Given the description of an element on the screen output the (x, y) to click on. 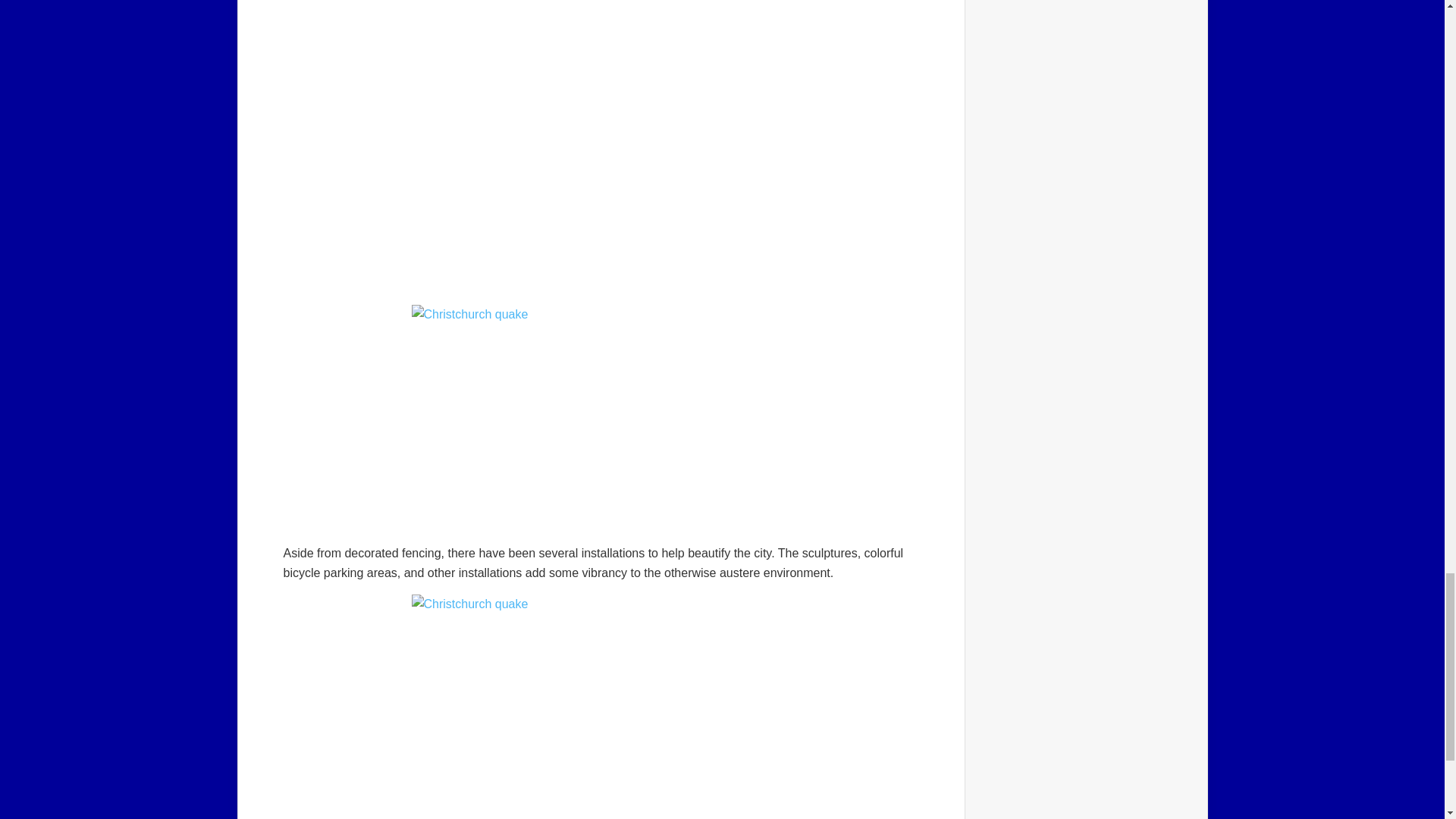
Astroturf lounging (600, 706)
Abandoned building (600, 418)
